Given the description of an element on the screen output the (x, y) to click on. 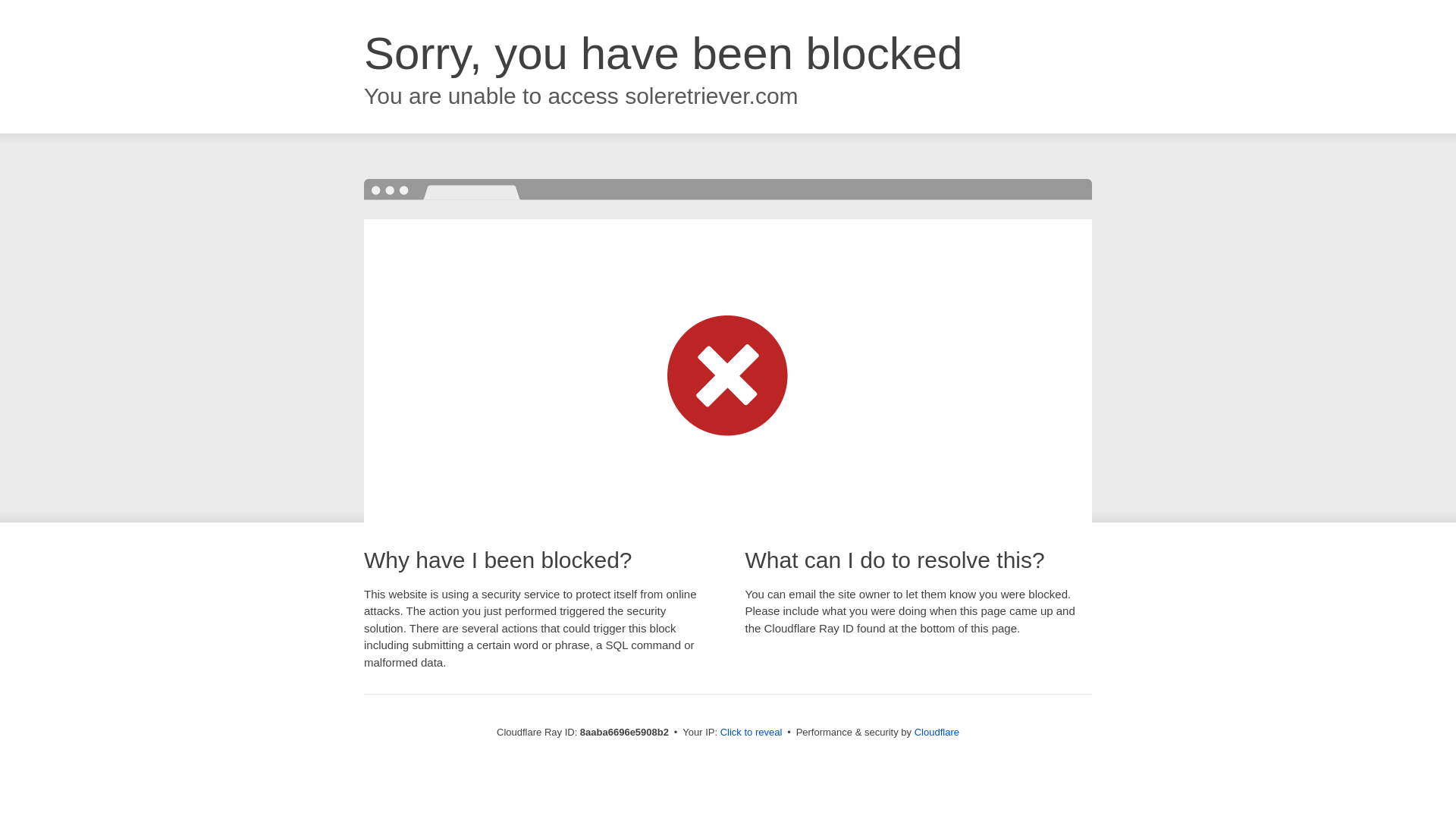
Cloudflare (936, 731)
Click to reveal (751, 732)
